Given the description of an element on the screen output the (x, y) to click on. 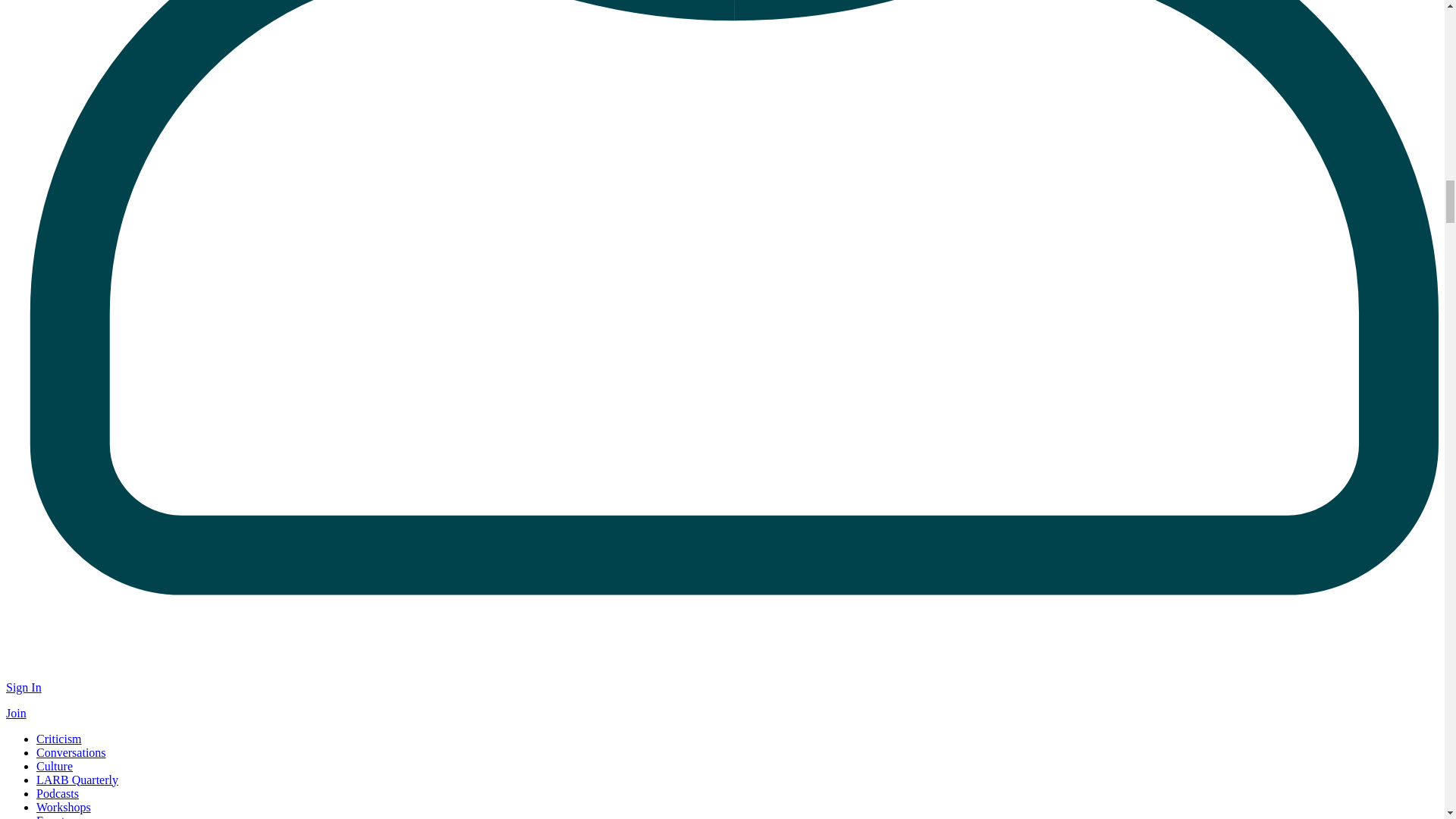
Criticism (58, 738)
Podcasts (57, 793)
Culture (54, 766)
Conversations (71, 752)
Events (52, 816)
Workshops (63, 807)
Sign In (23, 686)
LARB Quarterly (76, 779)
